Given the description of an element on the screen output the (x, y) to click on. 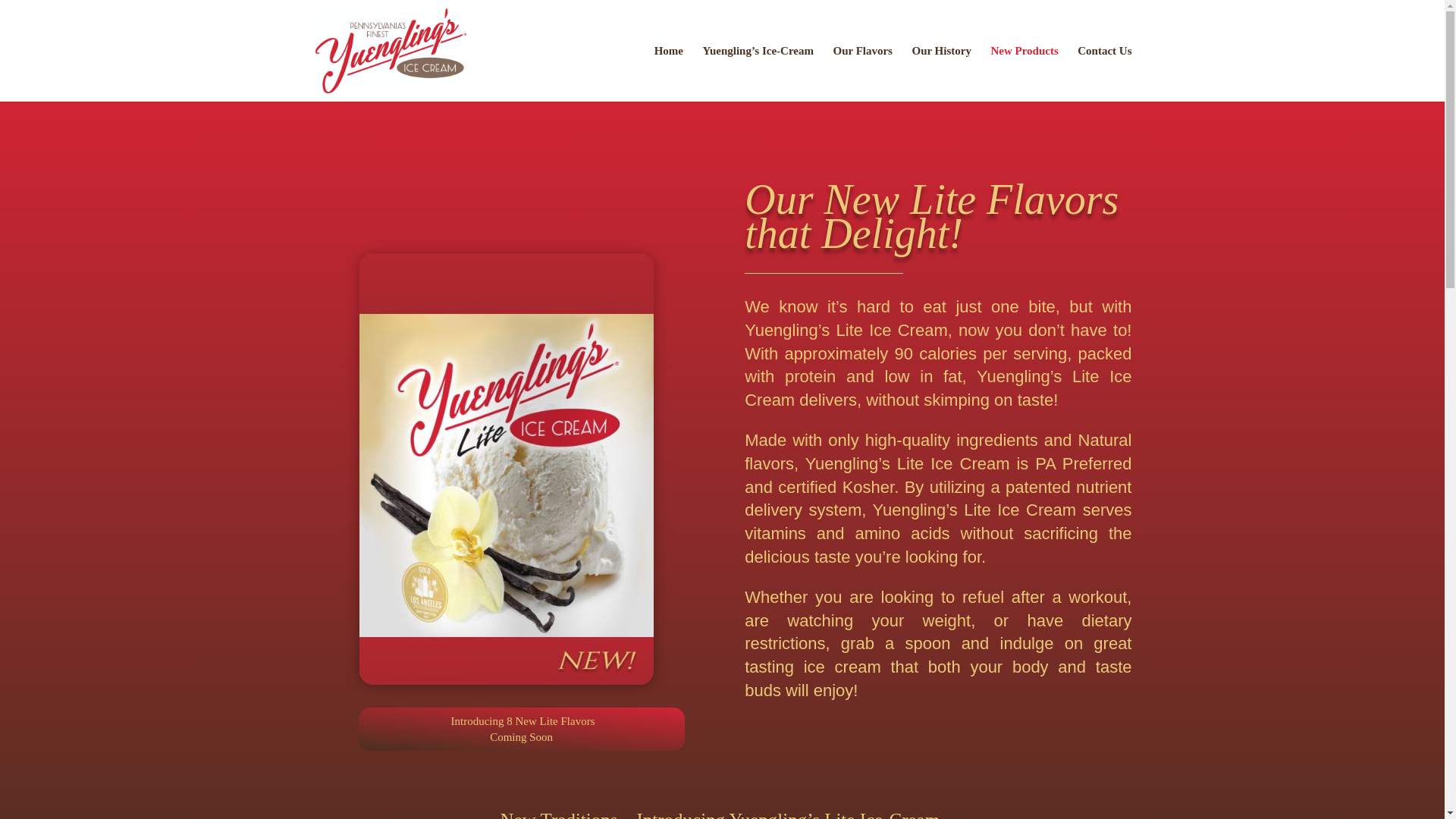
Home (667, 73)
New Products (1024, 73)
Contact Us (1104, 73)
Our Flavors (861, 73)
Our History (941, 73)
